Given the description of an element on the screen output the (x, y) to click on. 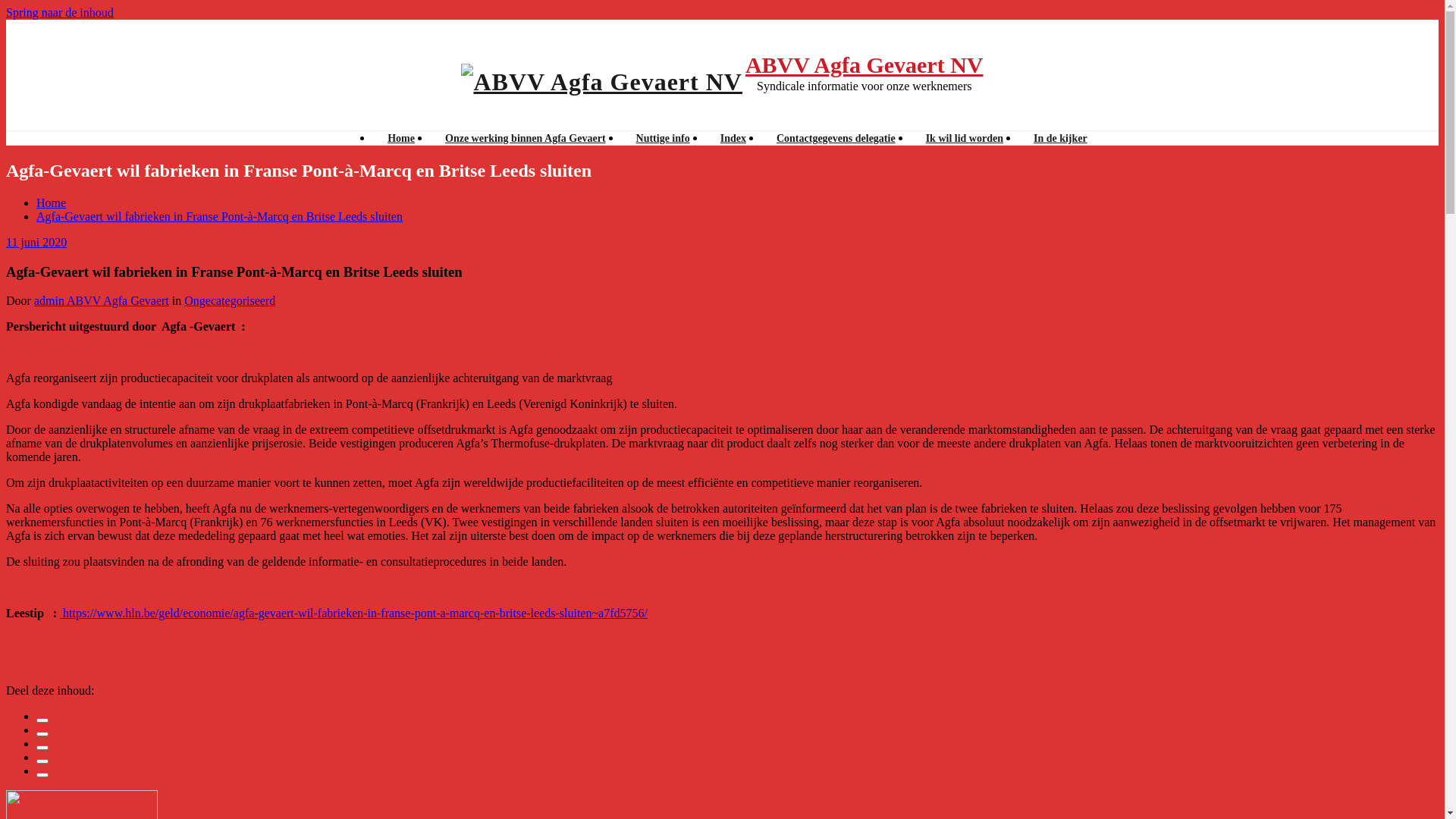
Home Element type: text (400, 138)
Ik wil lid worden Element type: text (964, 138)
In de kijker Element type: text (1060, 138)
Spring naar de inhoud Element type: text (59, 12)
Index Element type: text (733, 138)
11 juni 2020 Element type: text (36, 241)
Onze werking binnen Agfa Gevaert Element type: text (525, 138)
Home Element type: text (50, 202)
Ongecategoriseerd Element type: text (229, 300)
admin ABVV Agfa Gevaert Element type: text (101, 300)
Nuttige info Element type: text (663, 138)
ABVV Agfa Gevaert NV Element type: text (864, 64)
Contactgegevens delegatie Element type: text (835, 138)
